Given the description of an element on the screen output the (x, y) to click on. 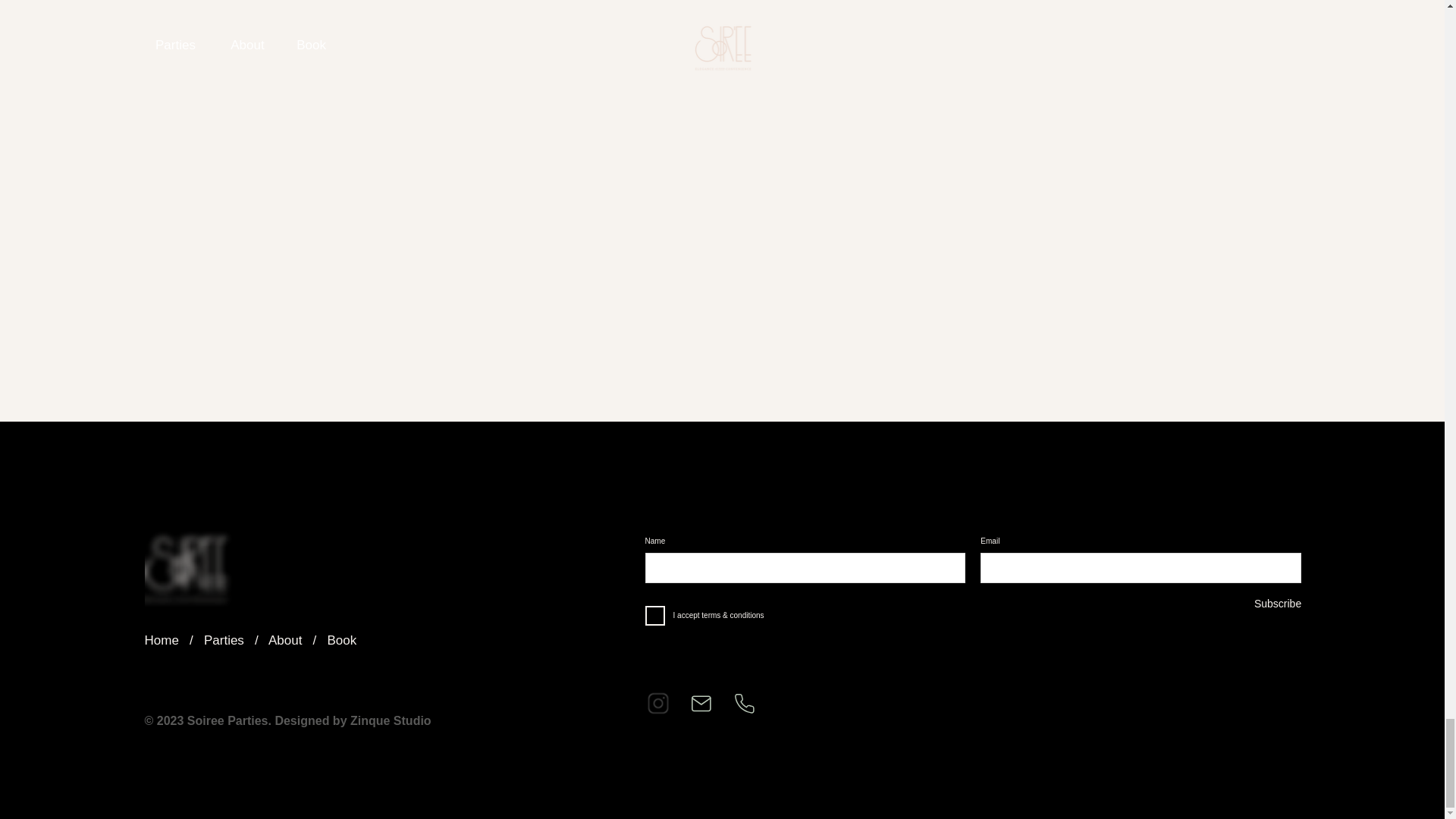
Parties (223, 640)
Book (341, 640)
About (284, 640)
Zinque Studio (390, 720)
Home (161, 640)
Subscribe (1225, 604)
